Given the description of an element on the screen output the (x, y) to click on. 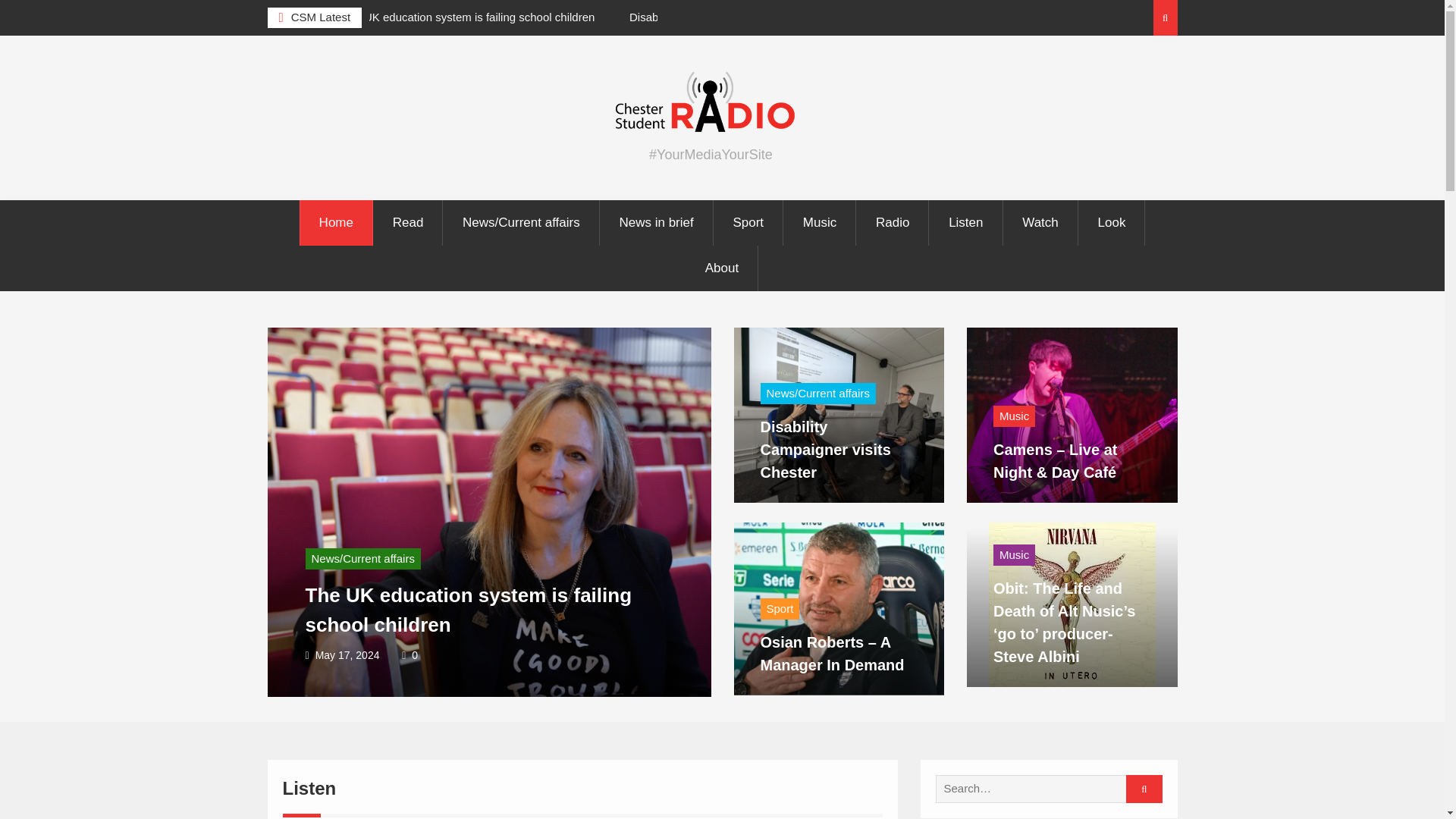
Search for: (1043, 788)
Listen (966, 222)
News in brief (656, 222)
Music (820, 222)
Read (409, 222)
The UK education system is failing school children (467, 17)
Look (1111, 222)
Disability Campaigner visits Chester (719, 17)
The UK education system is failing school children (467, 609)
Sport (748, 222)
